Given the description of an element on the screen output the (x, y) to click on. 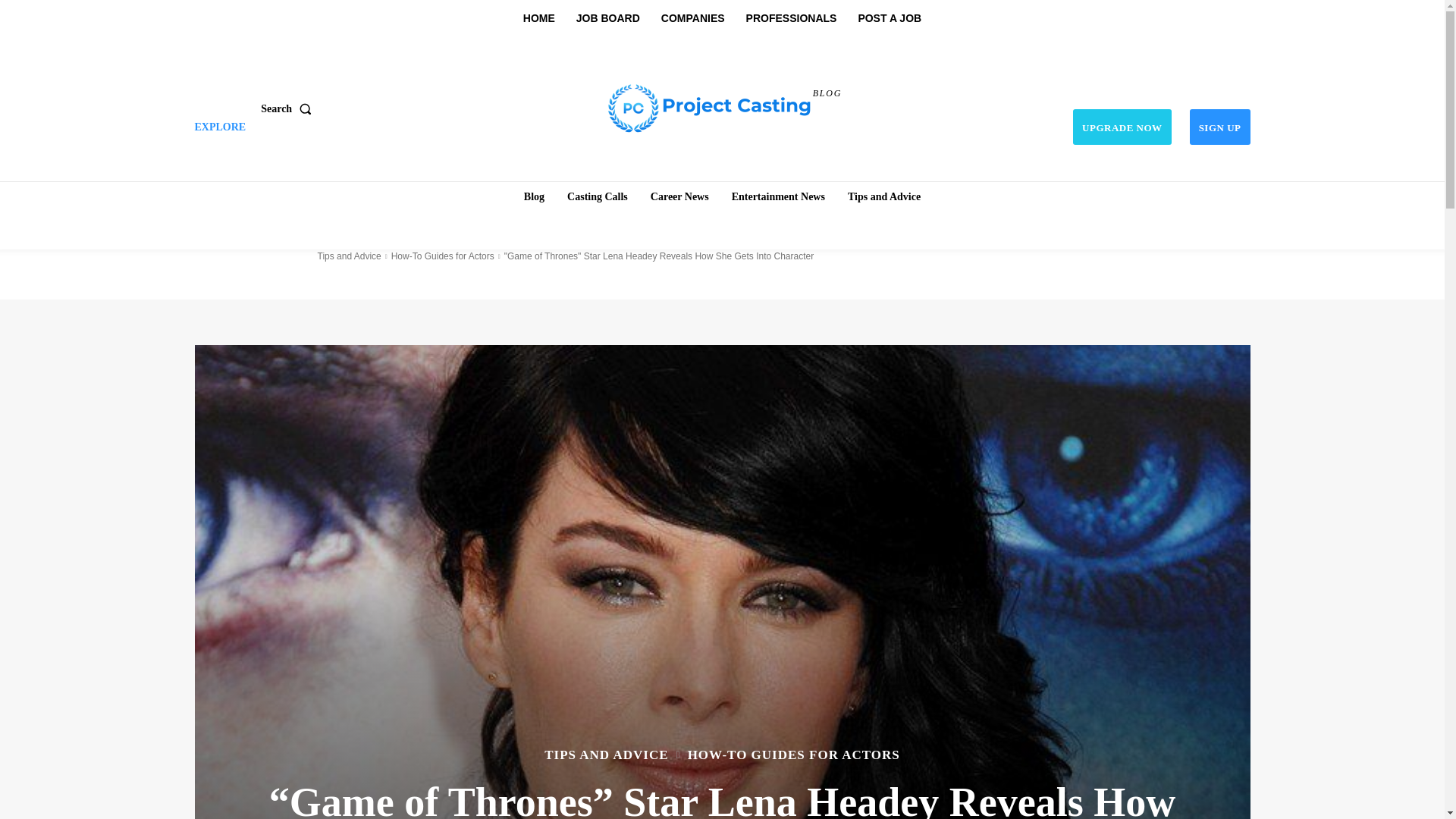
POST A JOB (889, 18)
UPGRADE NOW (1122, 126)
Entertainment News (777, 196)
Project Casting Blog (709, 106)
SIGN UP (1219, 126)
HOME (539, 18)
Explore (219, 126)
PROFESSIONALS (791, 18)
Sign Up (1219, 126)
BLOG (724, 106)
COMPANIES (692, 18)
Upgrade Now (1122, 126)
Project Casting Blog (724, 106)
Tips and Advice (884, 196)
Home (533, 196)
